Given the description of an element on the screen output the (x, y) to click on. 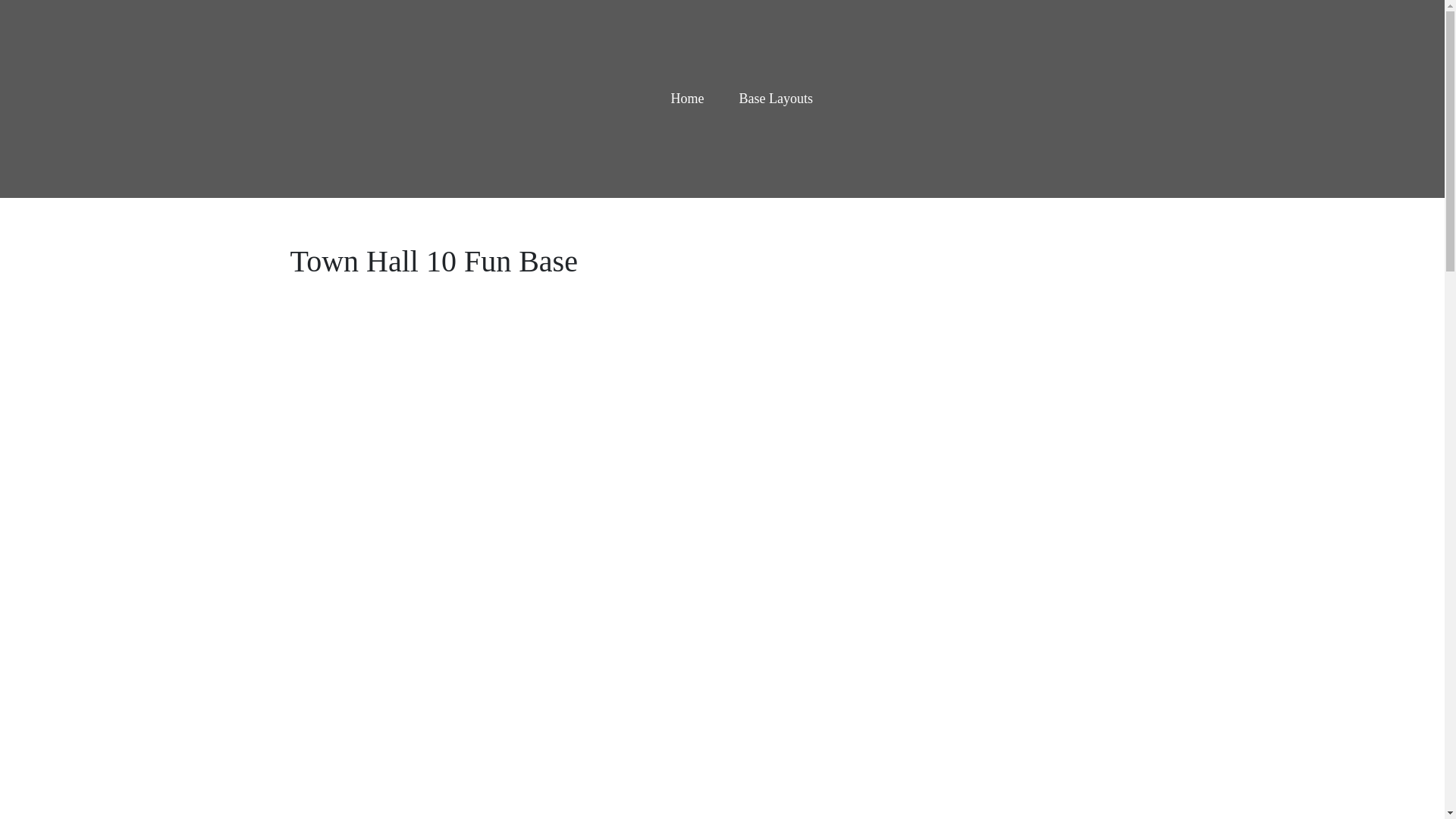
Home (686, 98)
Base Layouts (775, 98)
